Given the description of an element on the screen output the (x, y) to click on. 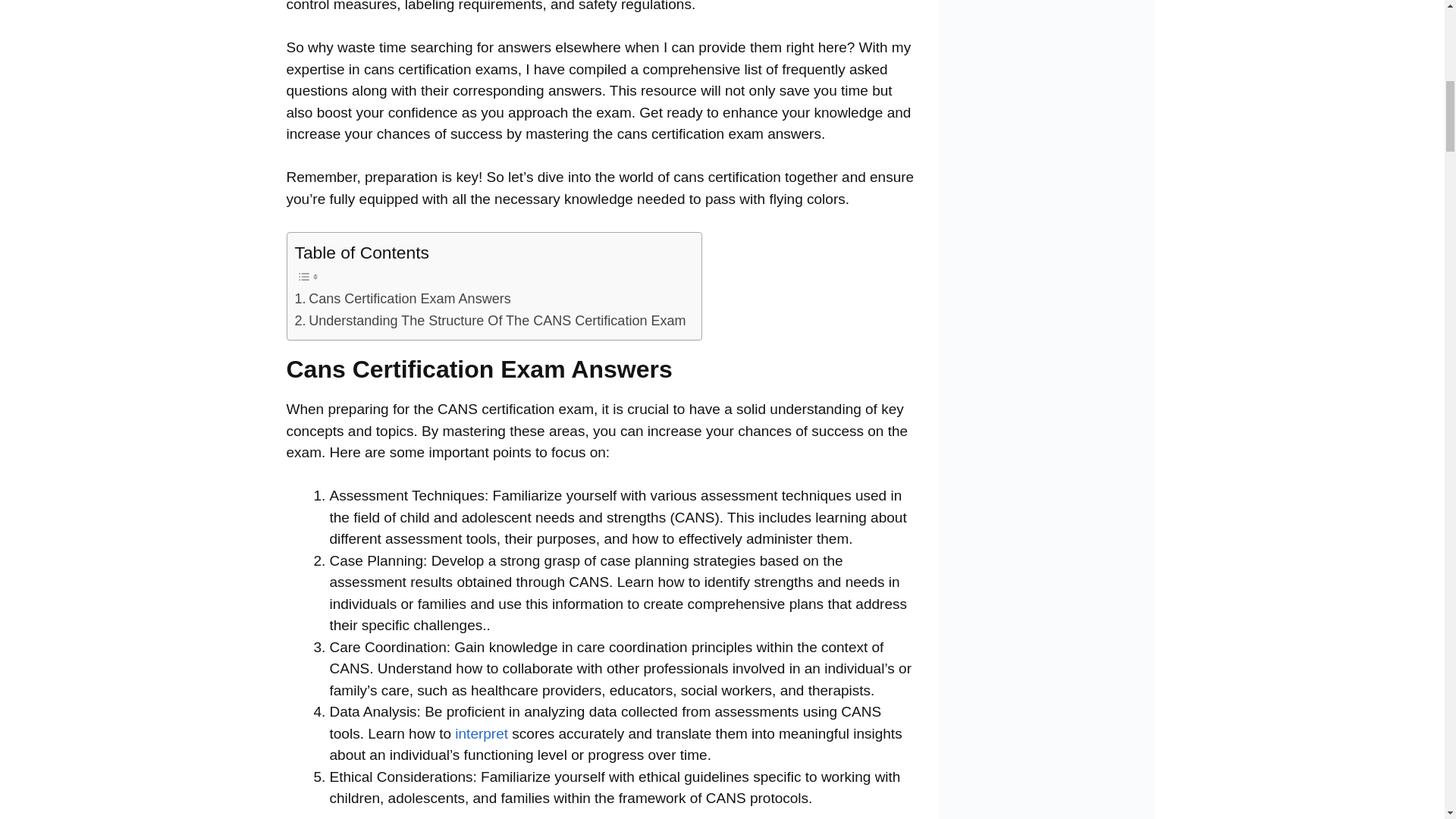
Understanding The Structure Of The CANS Certification Exam (489, 321)
Cans Certification Exam Answers (402, 299)
Understanding The Structure Of The CANS Certification Exam (489, 321)
Cans Certification Exam Answers (402, 299)
interpret (481, 733)
interpret (481, 733)
